Given the description of an element on the screen output the (x, y) to click on. 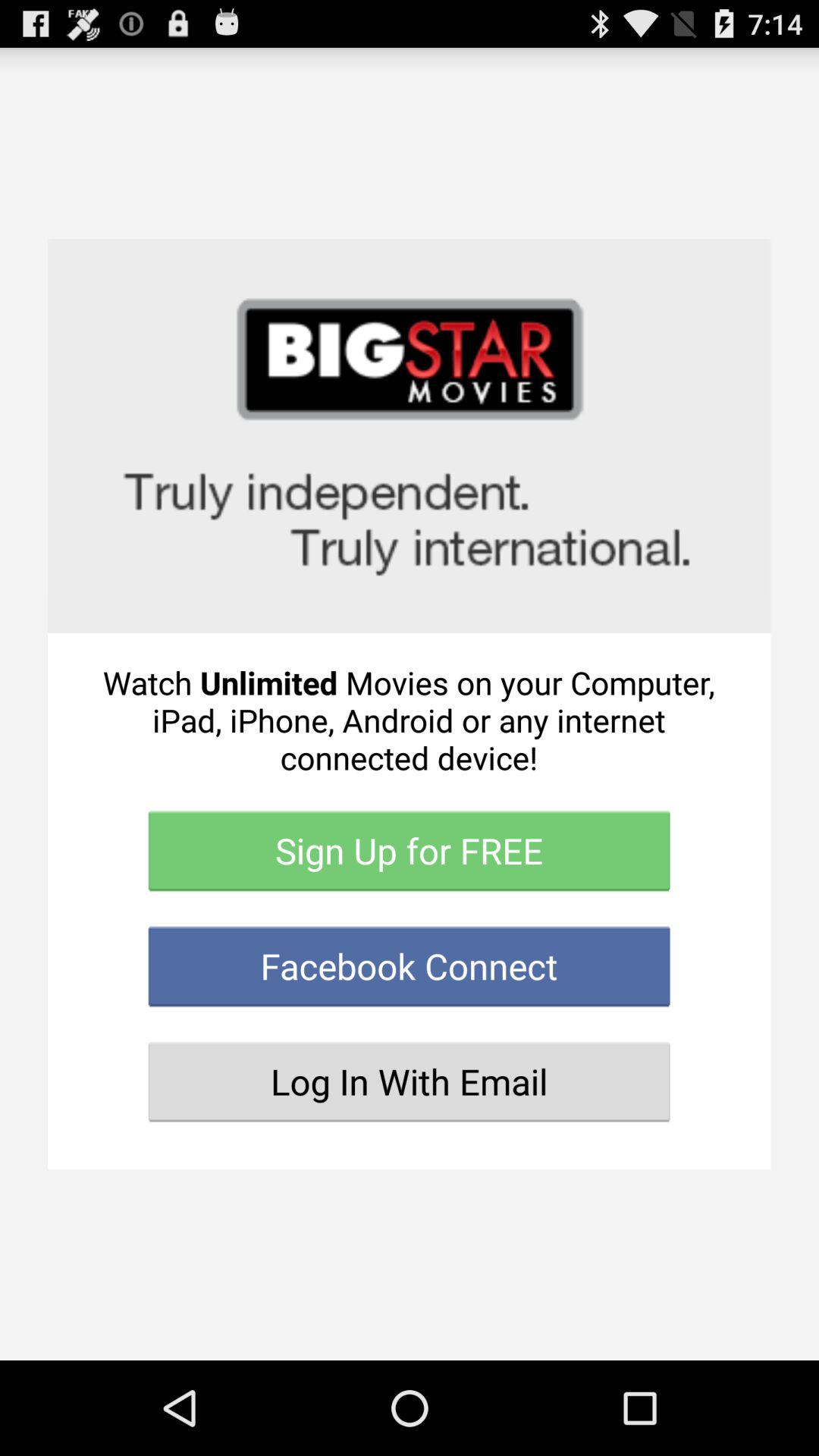
flip until the log in with button (408, 1081)
